Given the description of an element on the screen output the (x, y) to click on. 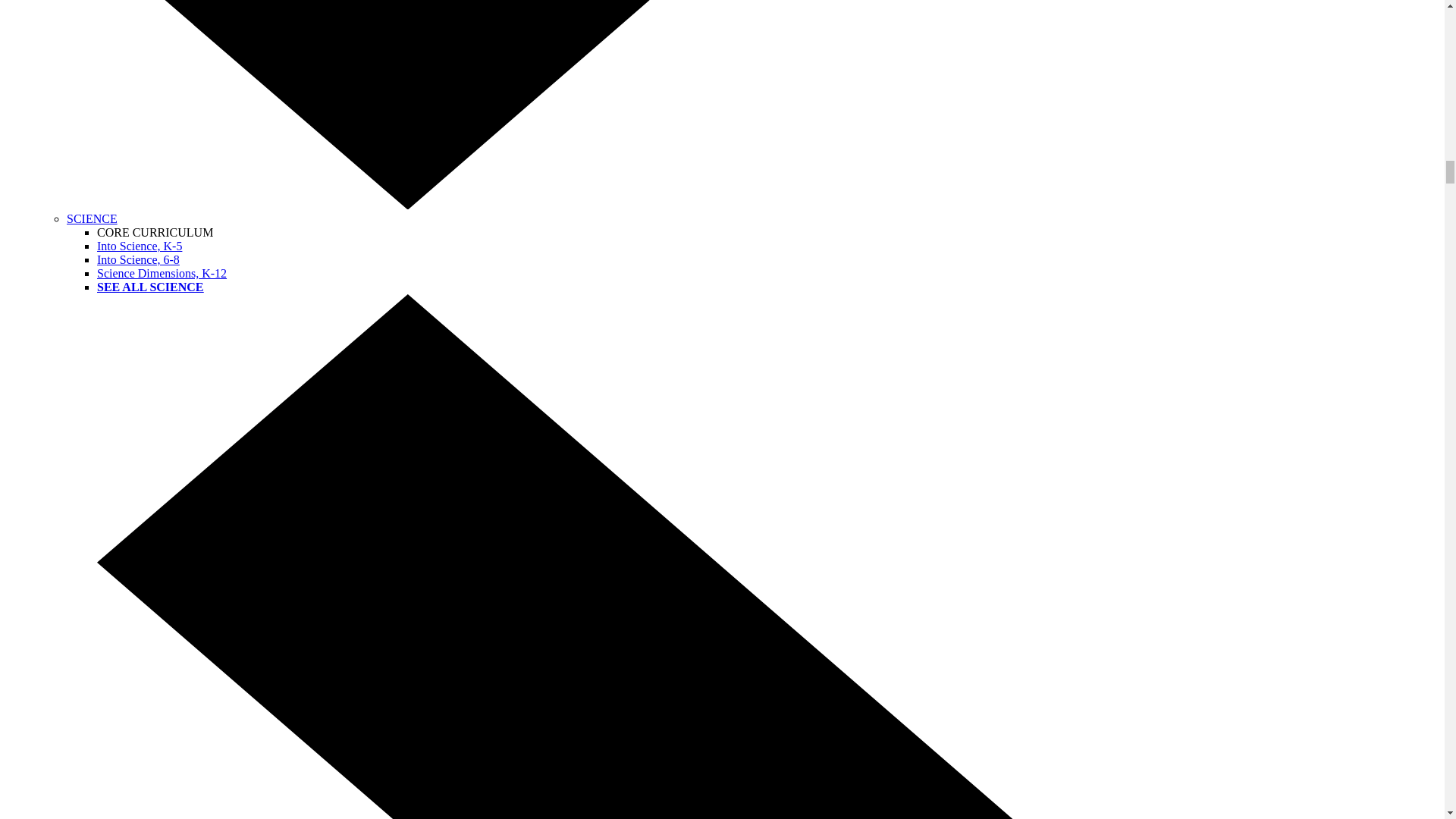
Into Science, 6-8 (138, 259)
SCIENCE (91, 218)
Into Science, K-5 (139, 245)
